Given the description of an element on the screen output the (x, y) to click on. 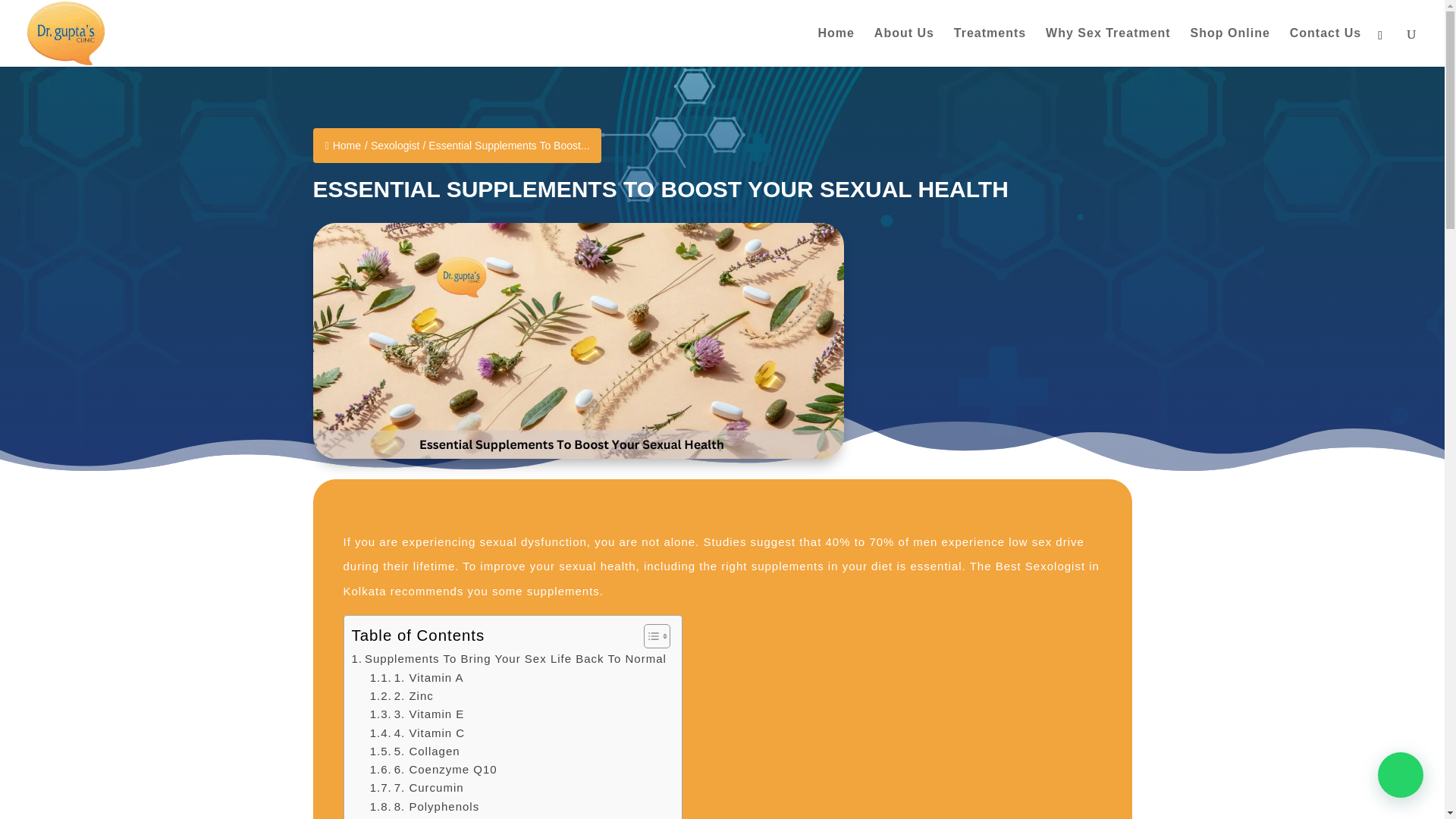
Category Name (395, 145)
9. Apigenin  (416, 817)
5. Collagen  (416, 751)
Male Sexual Problems (720, 578)
Why Sex Treatment (1107, 46)
2. Zinc (401, 696)
